Given the description of an element on the screen output the (x, y) to click on. 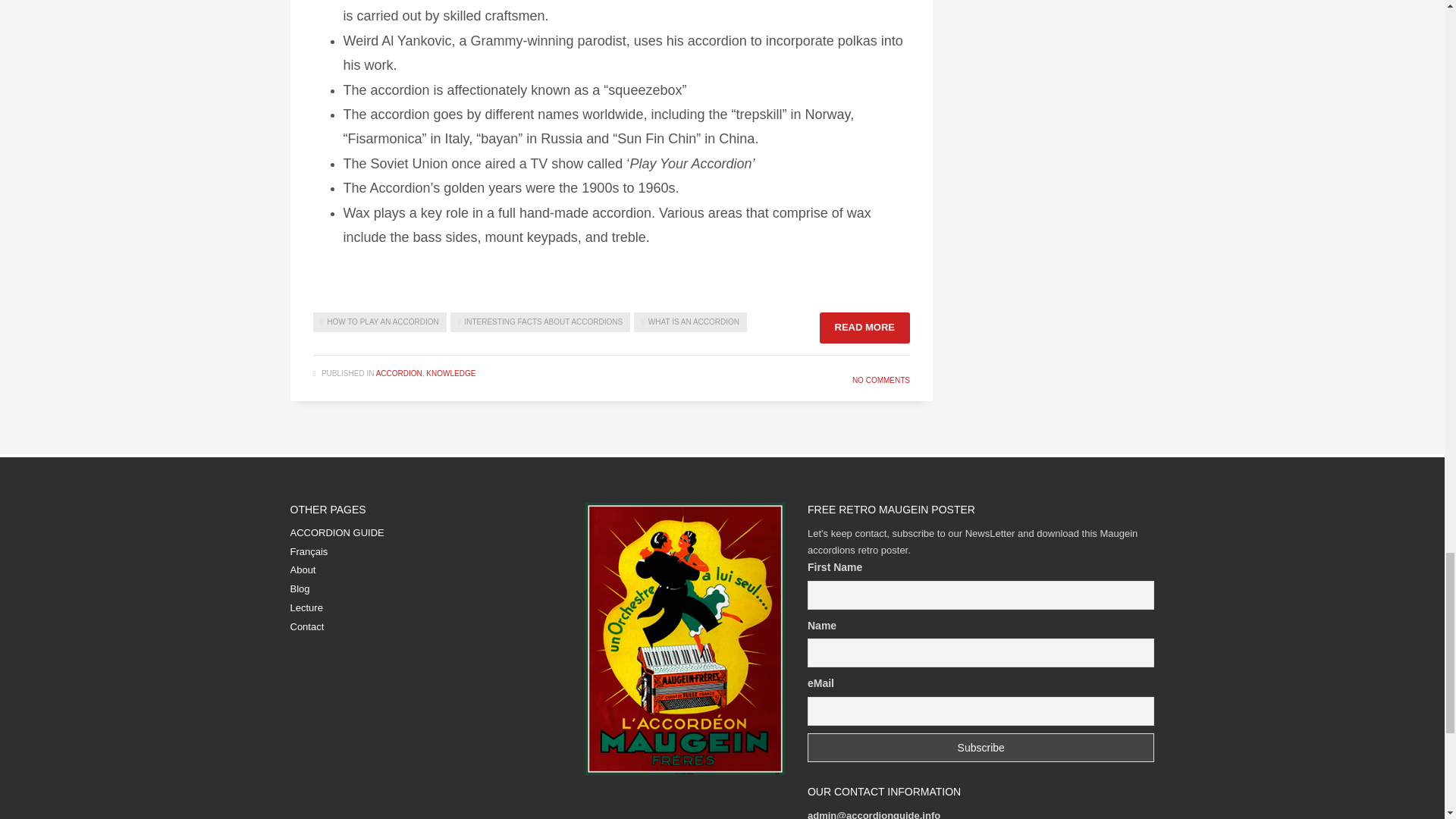
Subscribe (981, 747)
KNOWLEDGE (451, 373)
INTERESTING FACTS ABOUT ACCORDIONS (539, 322)
ACCORDION (398, 373)
READ MORE (864, 327)
HOW TO PLAY AN ACCORDION (379, 322)
NO COMMENTS (880, 379)
WHAT IS AN ACCORDION (689, 322)
